Given the description of an element on the screen output the (x, y) to click on. 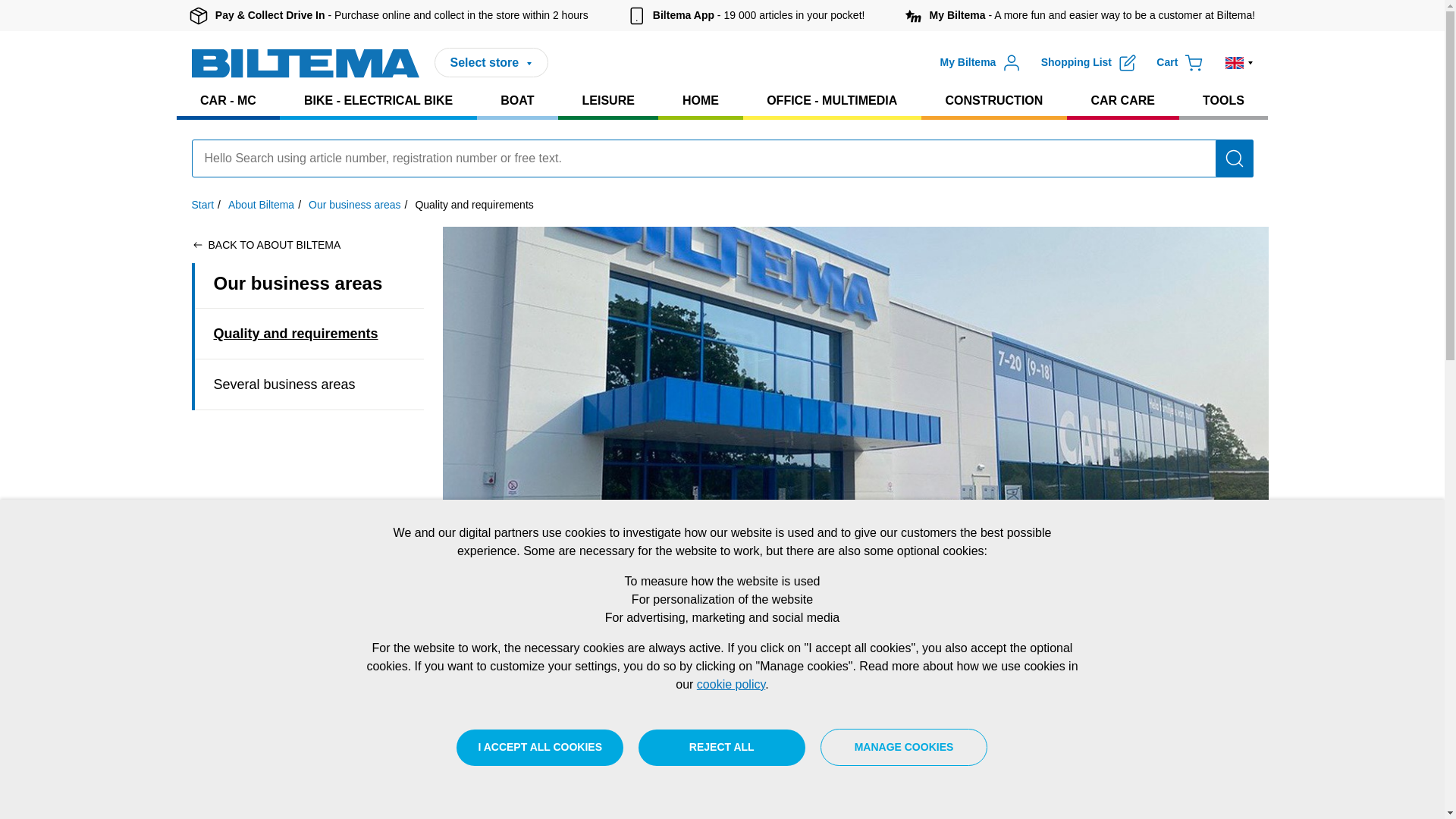
Cart (1179, 63)
Start (202, 204)
Our business areas (354, 204)
Go to product area: Boat (517, 100)
Go to product area: Tools (1222, 100)
Go to product area: Office - Multimedia (831, 100)
My Biltema (980, 63)
CONSTRUCTION (994, 100)
BACK TO ABOUT BILTEMA (265, 244)
CAR - MC (227, 100)
Go to product area: Construction (994, 100)
Go to product area: Car care (1123, 100)
Go to product area: Car - MC (227, 100)
Go to product area: Leisure (607, 100)
CAR CARE (1123, 100)
